Given the description of an element on the screen output the (x, y) to click on. 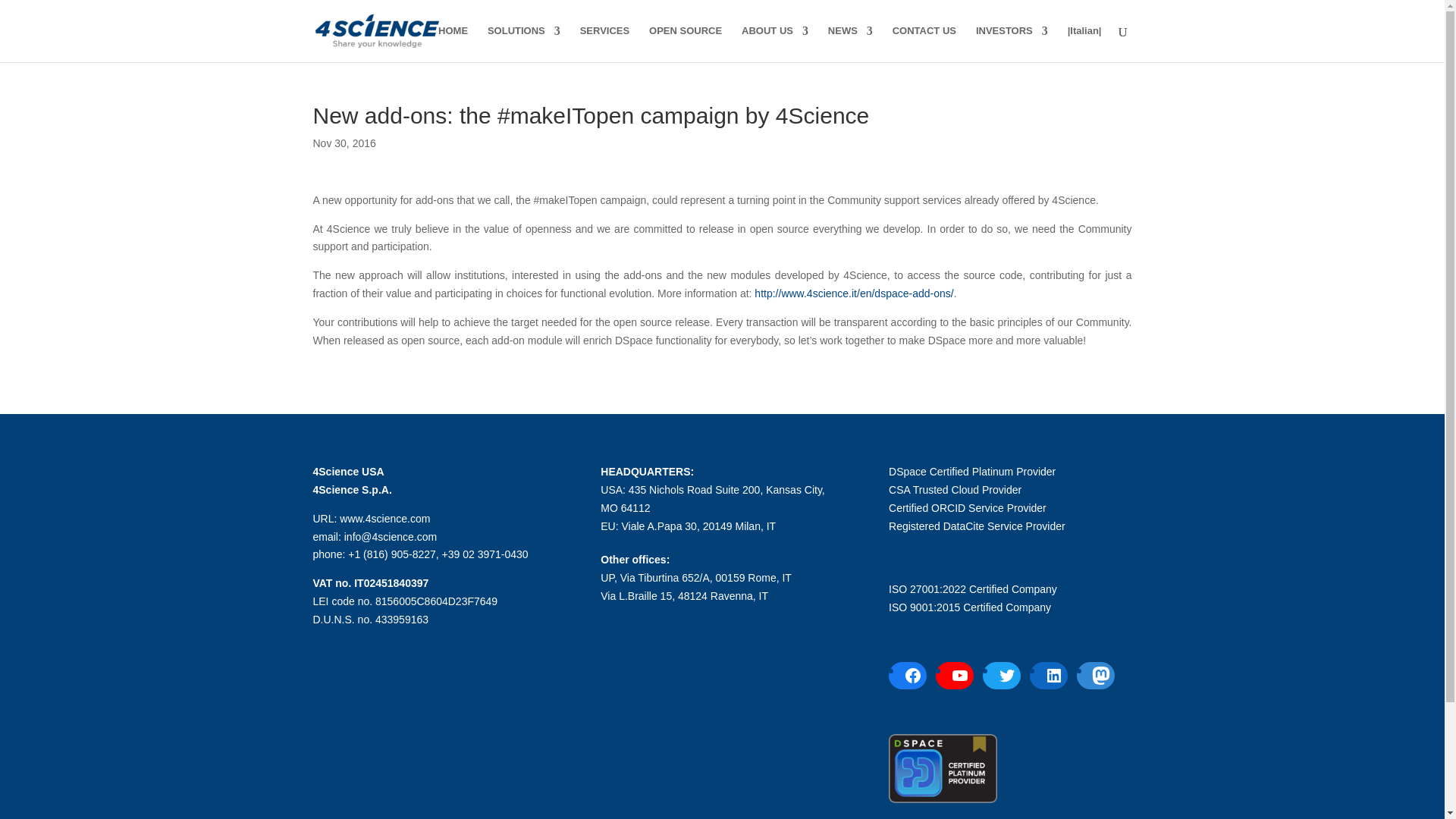
ABOUT US (774, 43)
Facebook (912, 675)
YouTube (960, 675)
OPEN SOURCE (685, 43)
CONTACT US (924, 43)
SOLUTIONS (523, 43)
NEWS (850, 43)
SERVICES (604, 43)
INVESTORS (1011, 43)
